Given the description of an element on the screen output the (x, y) to click on. 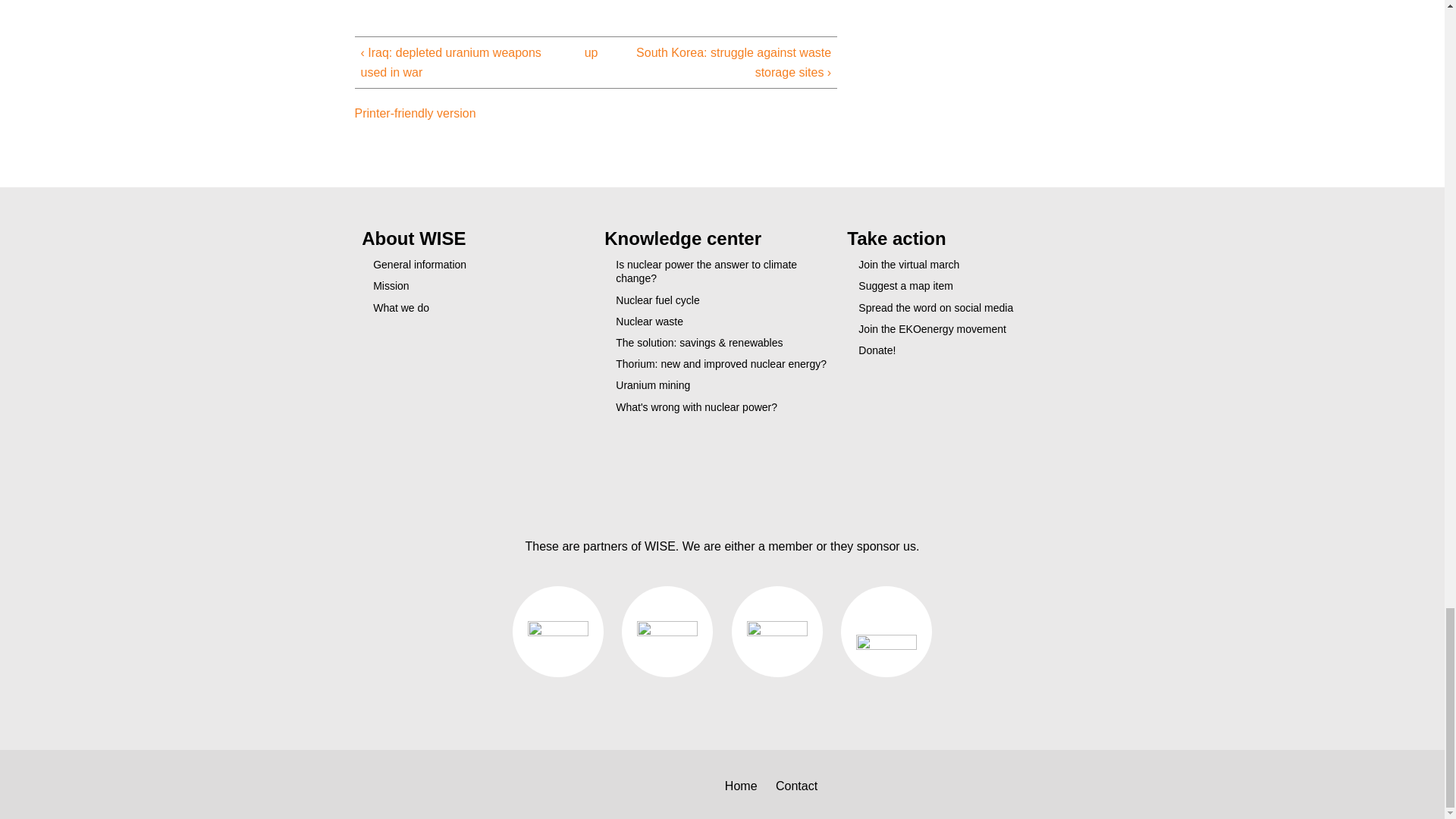
Go to parent page (589, 53)
Go to next page (732, 62)
Go to previous page (460, 62)
Top (721, 467)
